Given the description of an element on the screen output the (x, y) to click on. 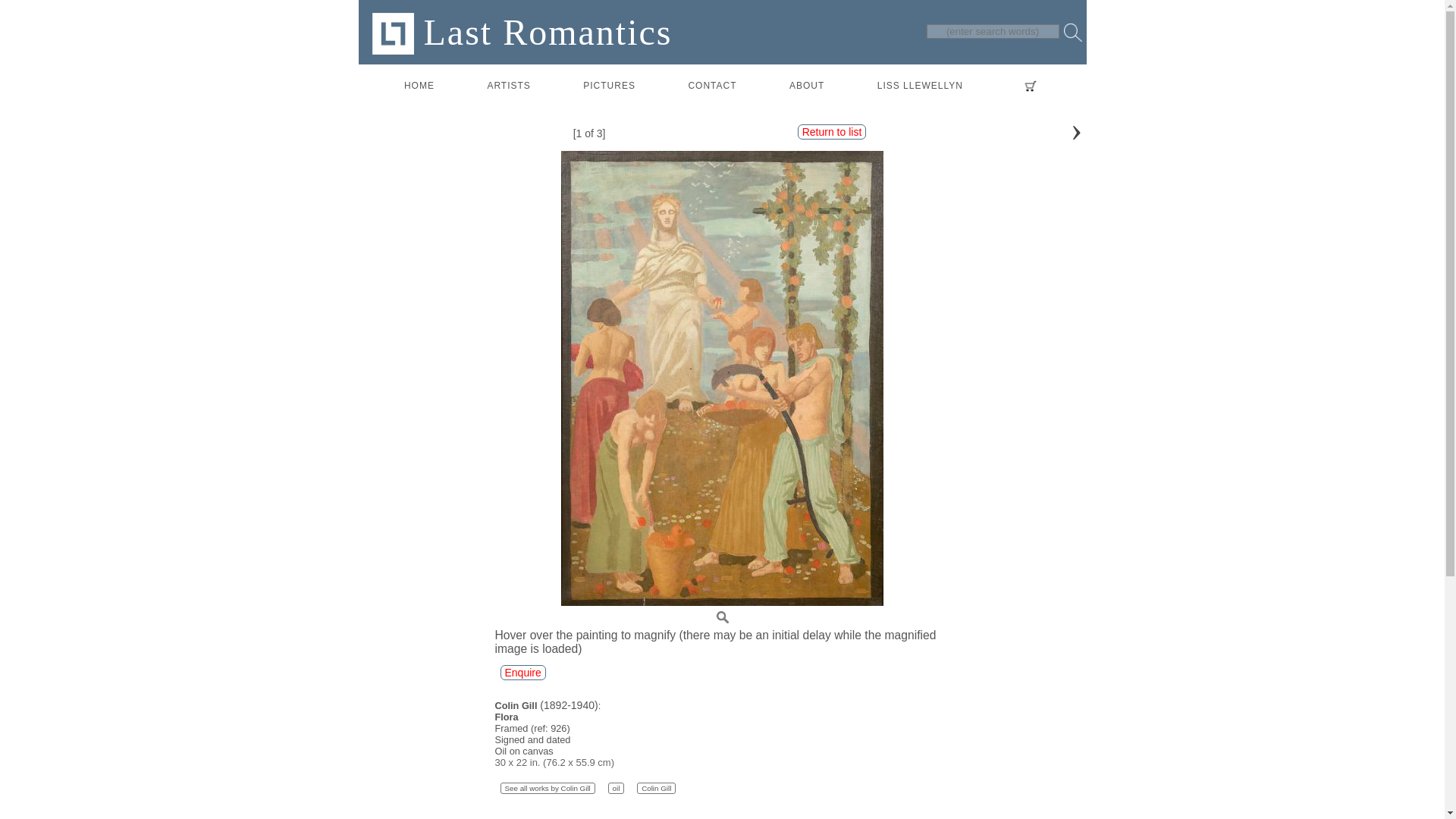
Colin Gill (656, 787)
Enquire (523, 672)
Return to list (831, 131)
HOME (419, 85)
Enquire about this artwork (523, 672)
Return to list (831, 131)
See all works by Colin Gill (547, 787)
Last Romantics (521, 32)
CONTACT (711, 85)
ABOUT (807, 85)
Search (1072, 32)
PICTURES (609, 85)
LISS LLEWELLYN (919, 85)
View your secure Paypal cart (1027, 85)
